Given the description of an element on the screen output the (x, y) to click on. 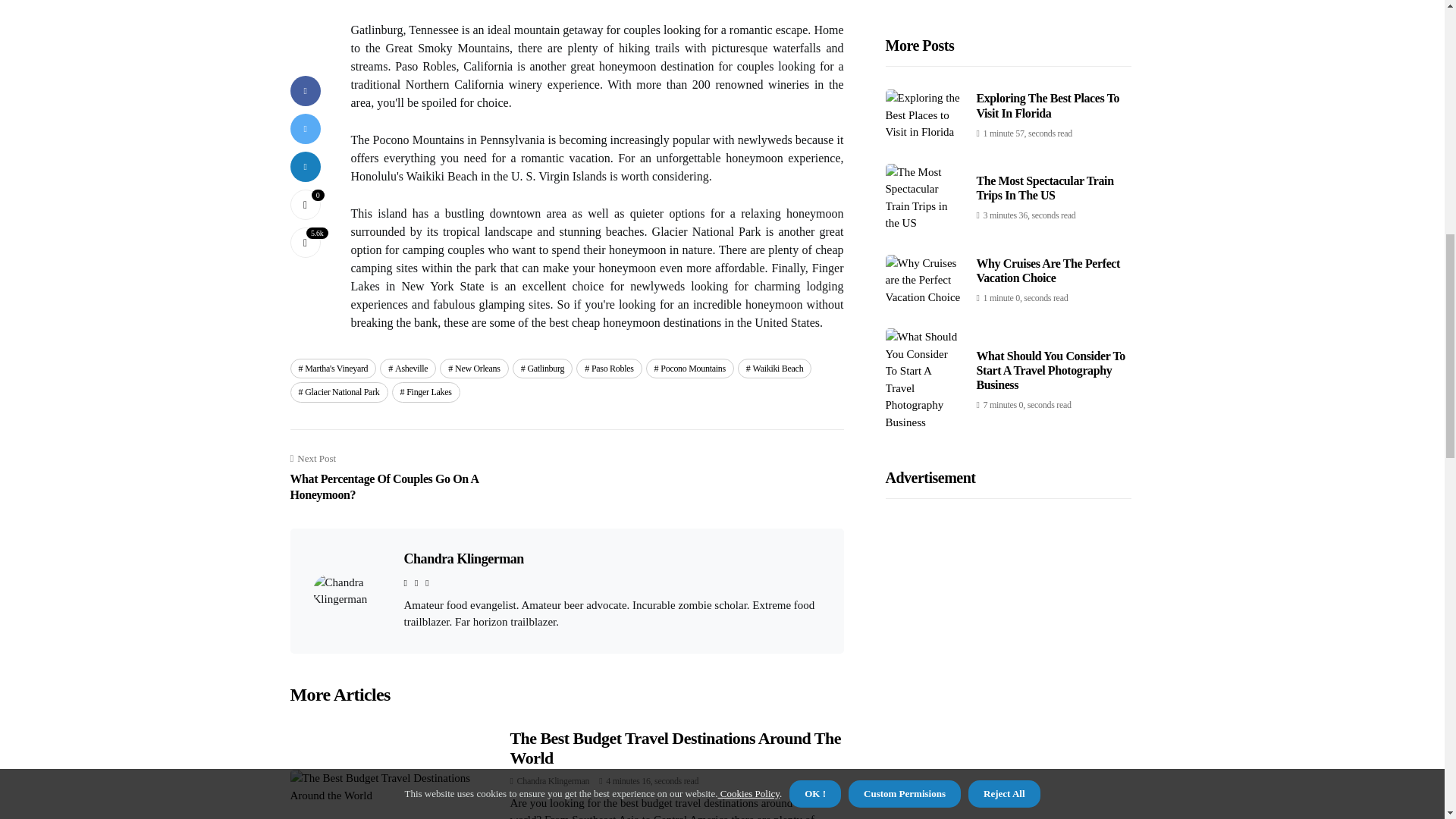
New Orleans (473, 368)
Chandra Klingerman (462, 558)
Waikiki Beach (774, 368)
Gatlinburg (542, 368)
Glacier National Park (400, 477)
Pocono Mountains (338, 392)
Posts by Chandra Klingerman (689, 368)
Martha'S Vineyard (552, 780)
Paso Robles (332, 368)
